Given the description of an element on the screen output the (x, y) to click on. 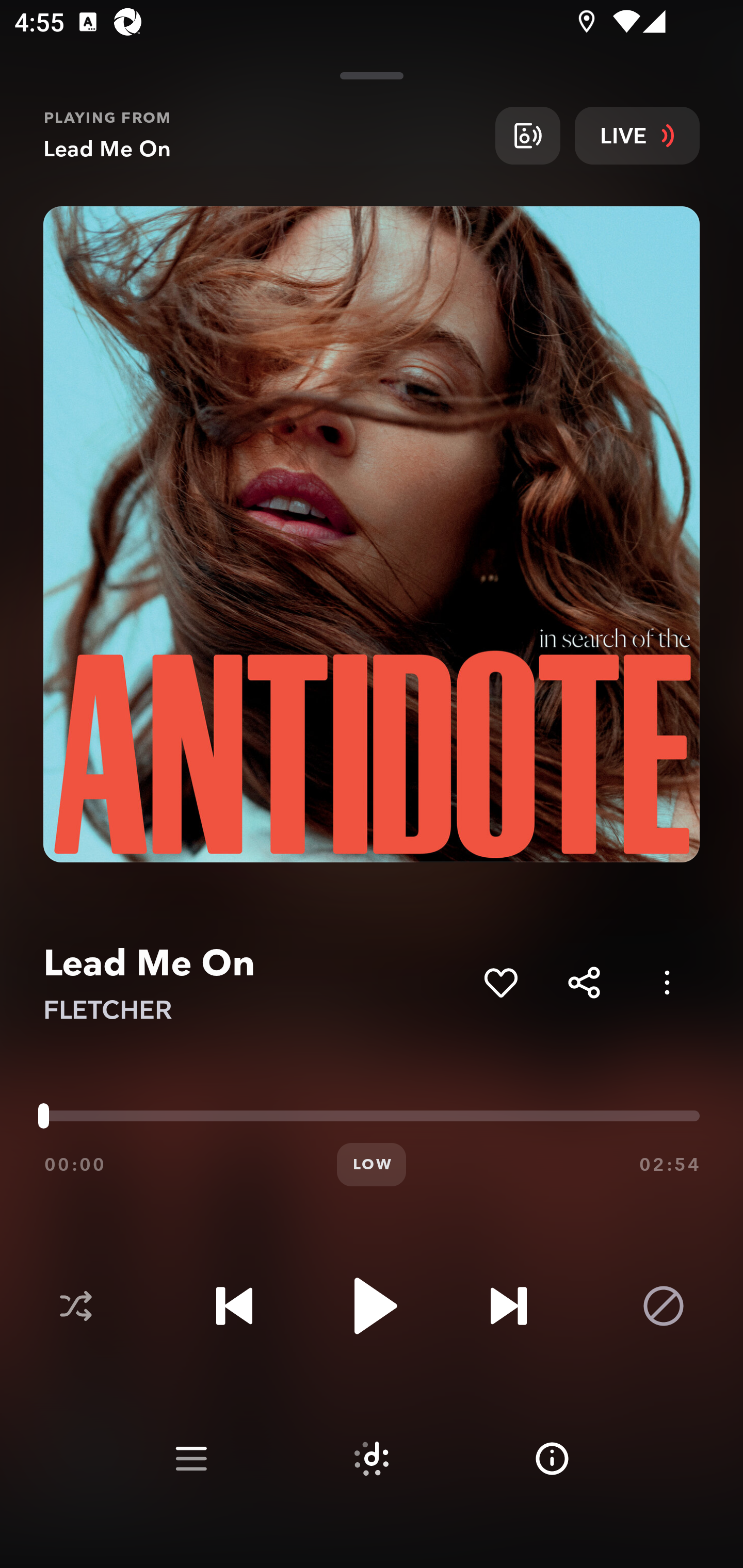
Broadcast (527, 135)
LIVE (637, 135)
PLAYING FROM Lead Me On (261, 135)
Lead Me On FLETCHER (255, 983)
Add to My Collection (500, 982)
Share (583, 982)
Options (666, 982)
LOW (371, 1164)
Play (371, 1306)
Previous (234, 1306)
Next (508, 1306)
Block (663, 1306)
Shuffle disabled (75, 1306)
Play queue (191, 1458)
Suggested tracks (371, 1458)
Info (551, 1458)
